Given the description of an element on the screen output the (x, y) to click on. 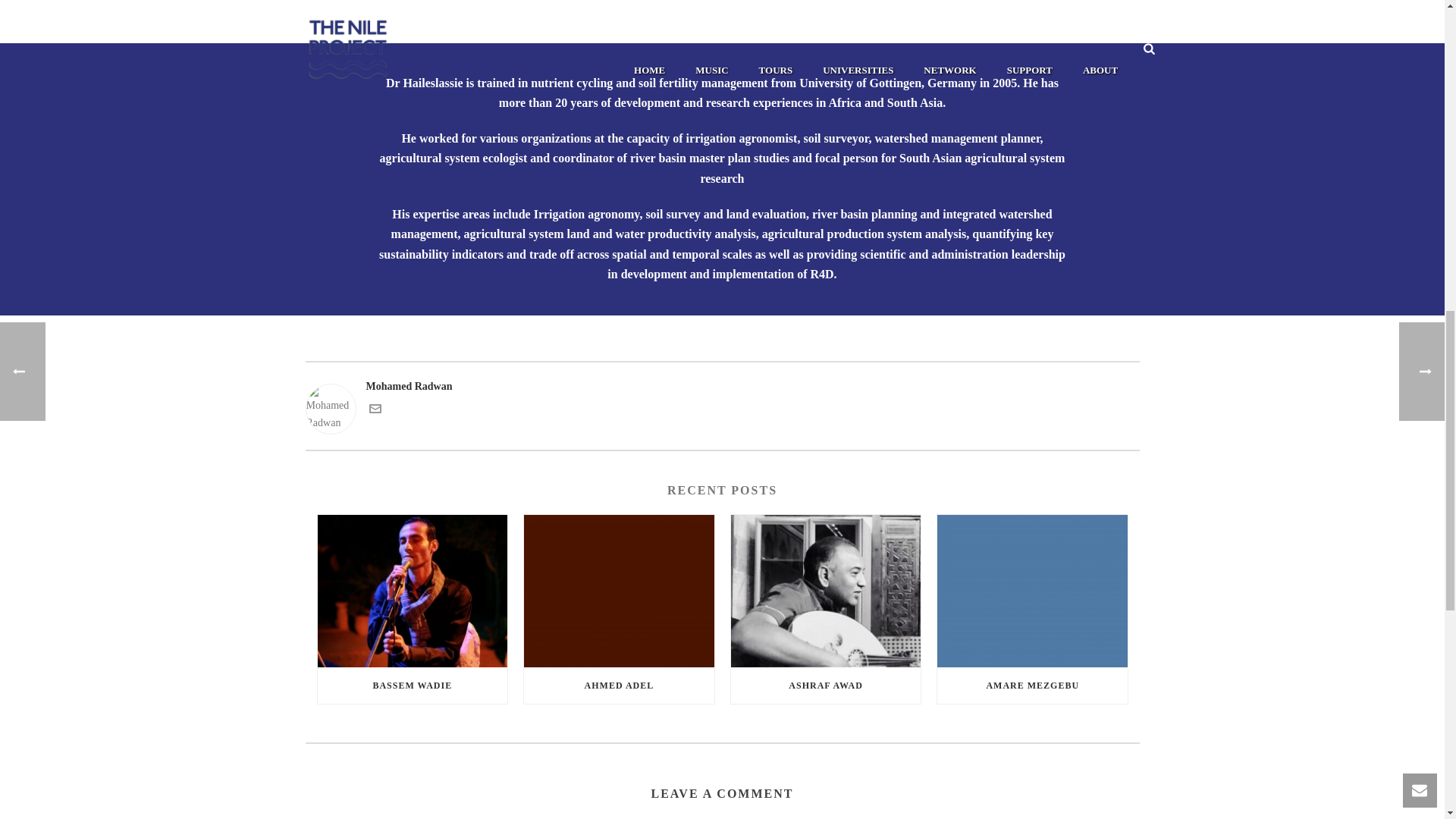
Bassem Wadie (411, 591)
Get in touch with me via email (374, 410)
Ahmed Adel (619, 591)
Ashraf awad (825, 591)
Amare Mezgebu (1031, 591)
